Given the description of an element on the screen output the (x, y) to click on. 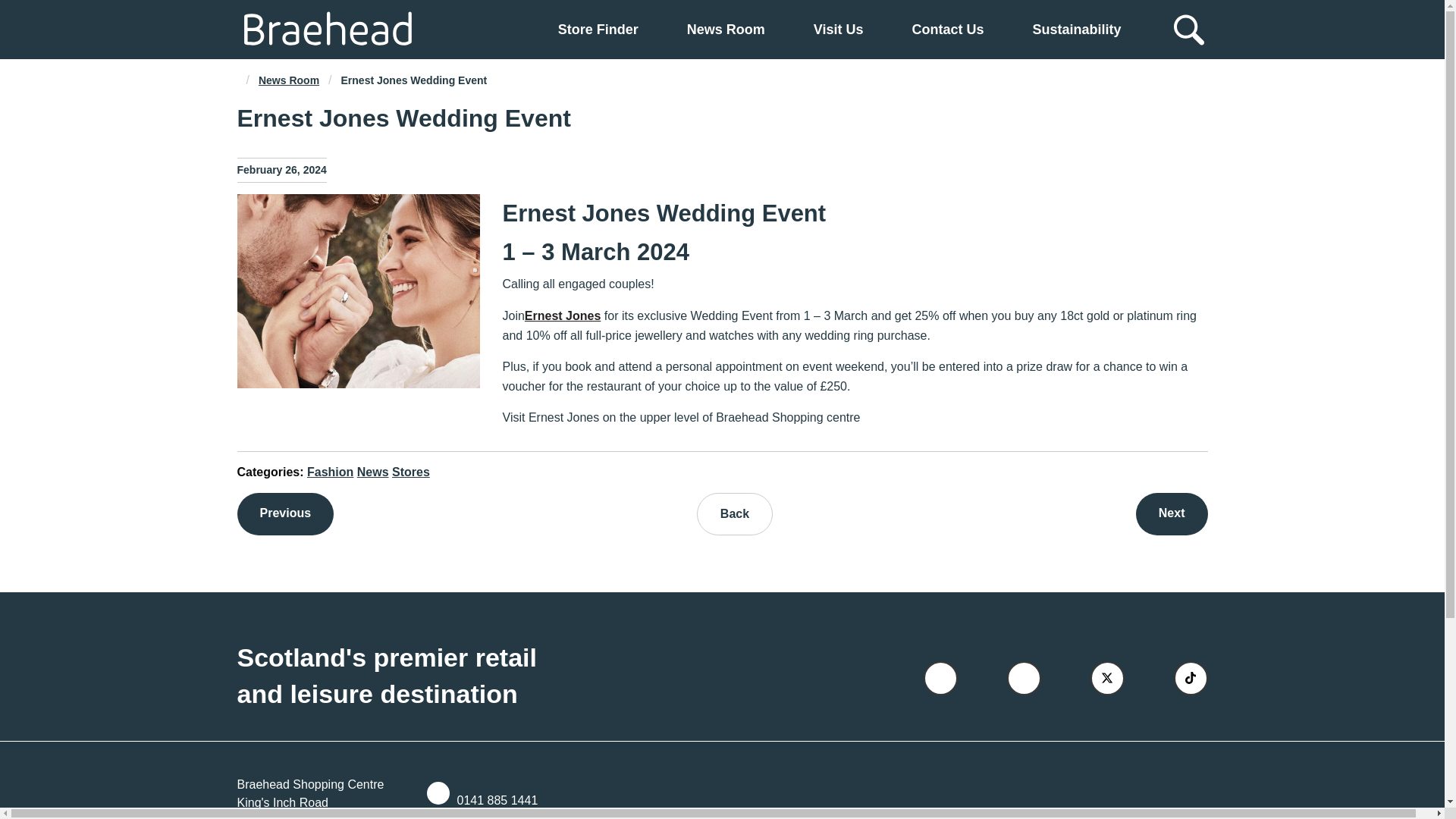
News Room (726, 29)
Tiktok (1190, 677)
News Room (288, 80)
Contact Us (947, 29)
Store Finder (598, 29)
Instagram (1024, 677)
news (288, 80)
Facebook (940, 677)
Sustainability (1076, 29)
Twitter (1107, 677)
